Given the description of an element on the screen output the (x, y) to click on. 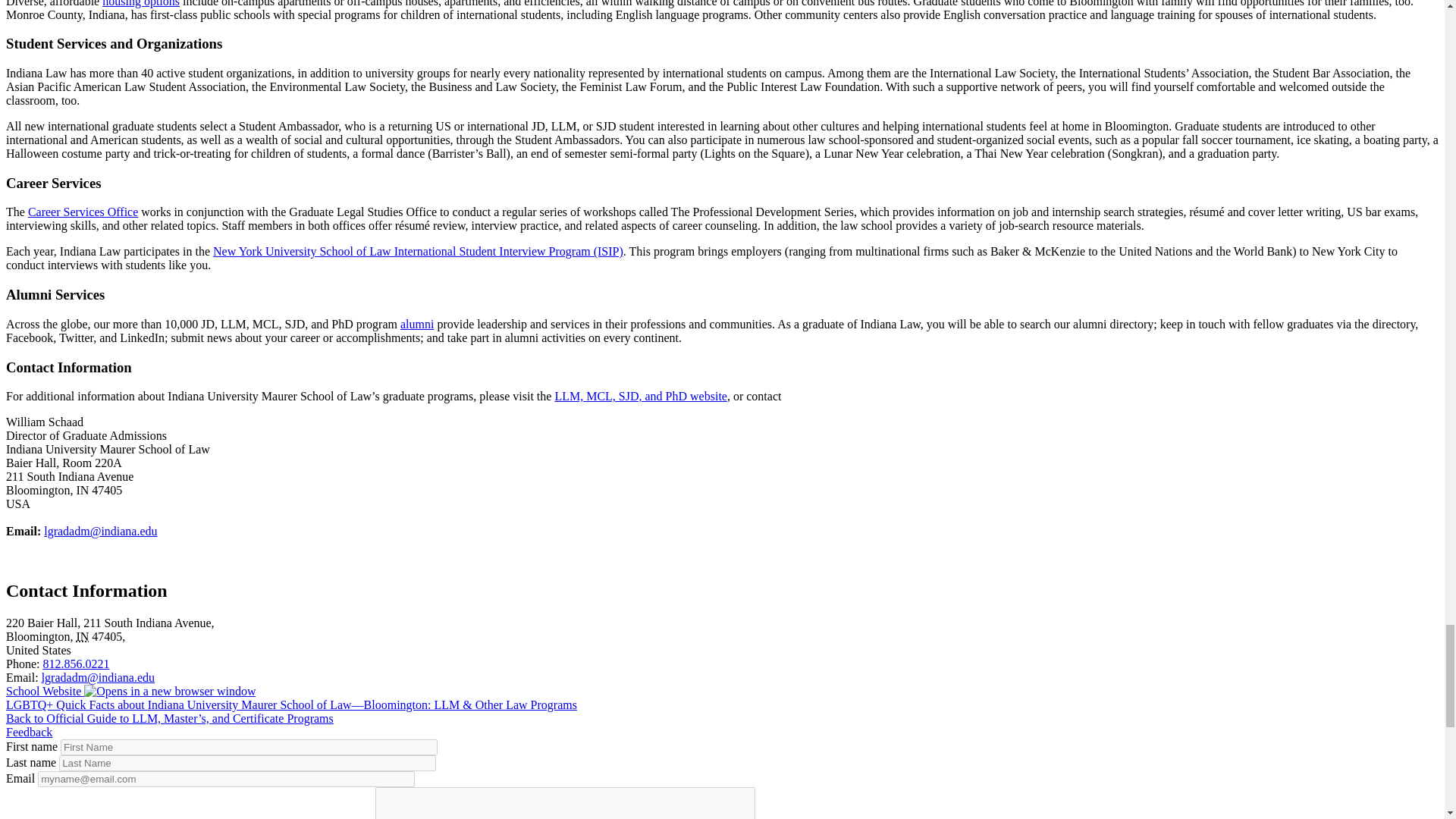
alumni (416, 323)
